Given the description of an element on the screen output the (x, y) to click on. 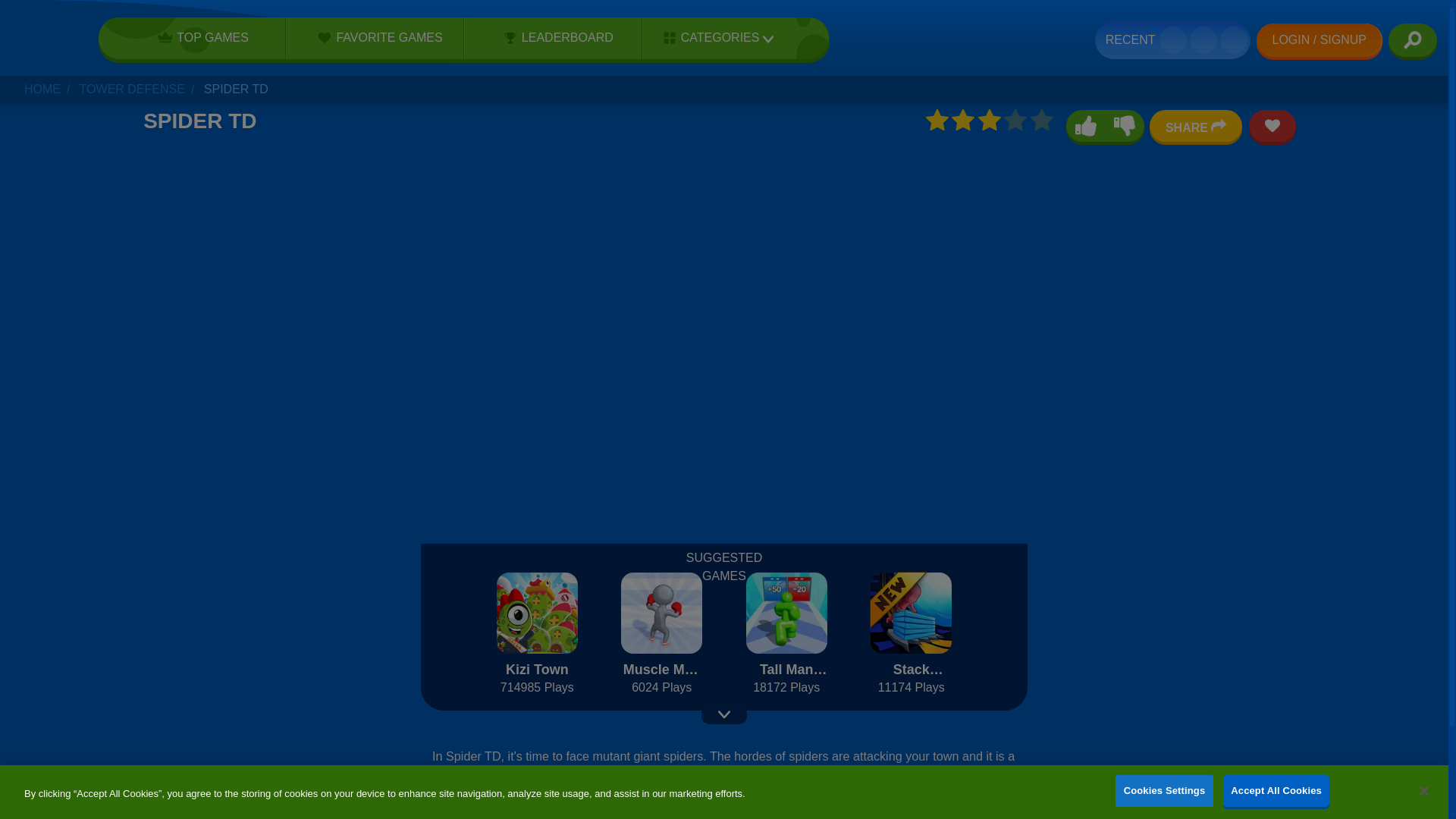
TOP GAMES (197, 37)
CATEGORIES (712, 38)
FAVORITE GAMES (374, 37)
LEADERBOARD (553, 37)
